Given the description of an element on the screen output the (x, y) to click on. 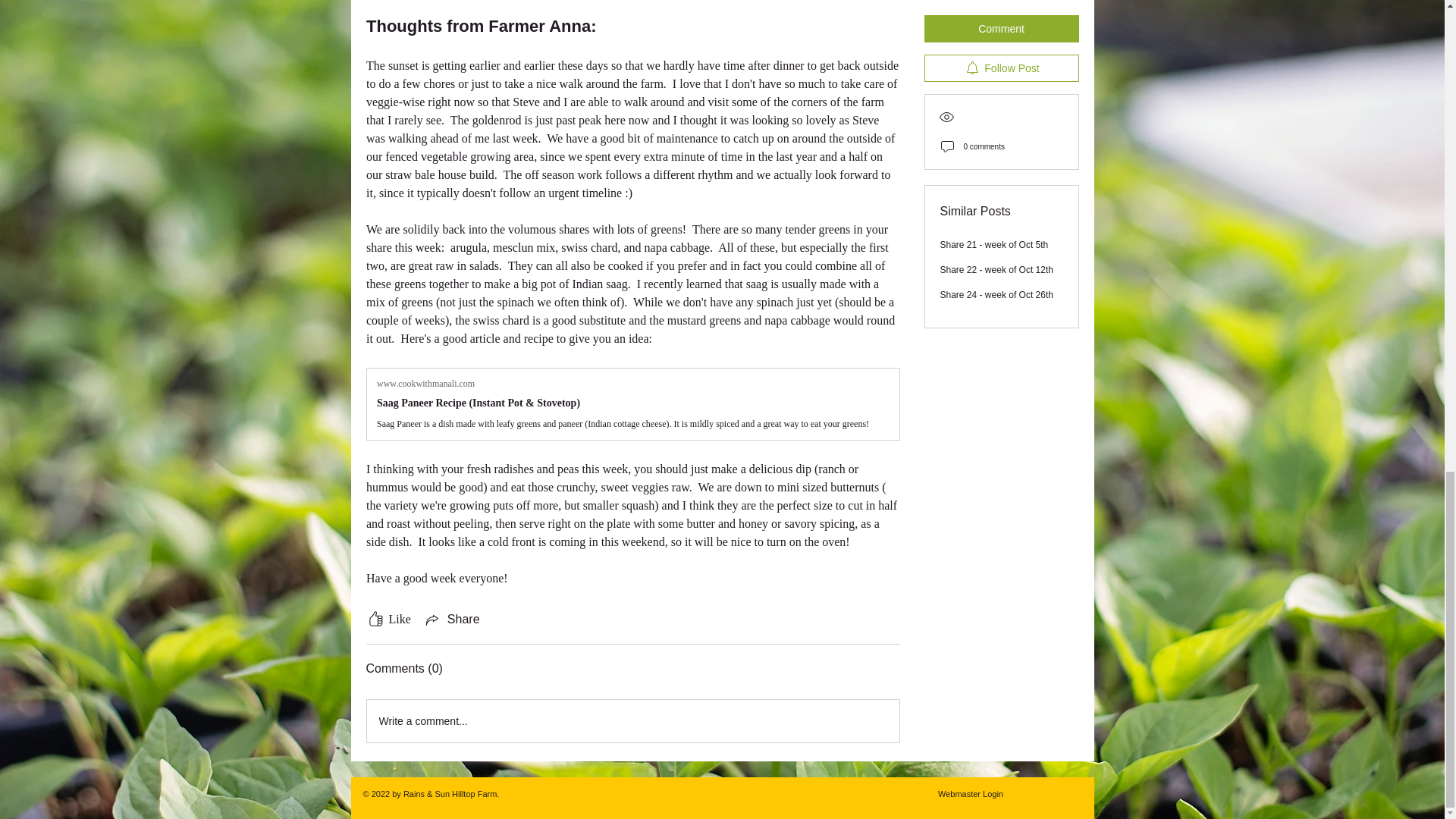
Like (387, 619)
Webmaster Login (970, 793)
Write a comment... (632, 721)
Share (451, 619)
